Given the description of an element on the screen output the (x, y) to click on. 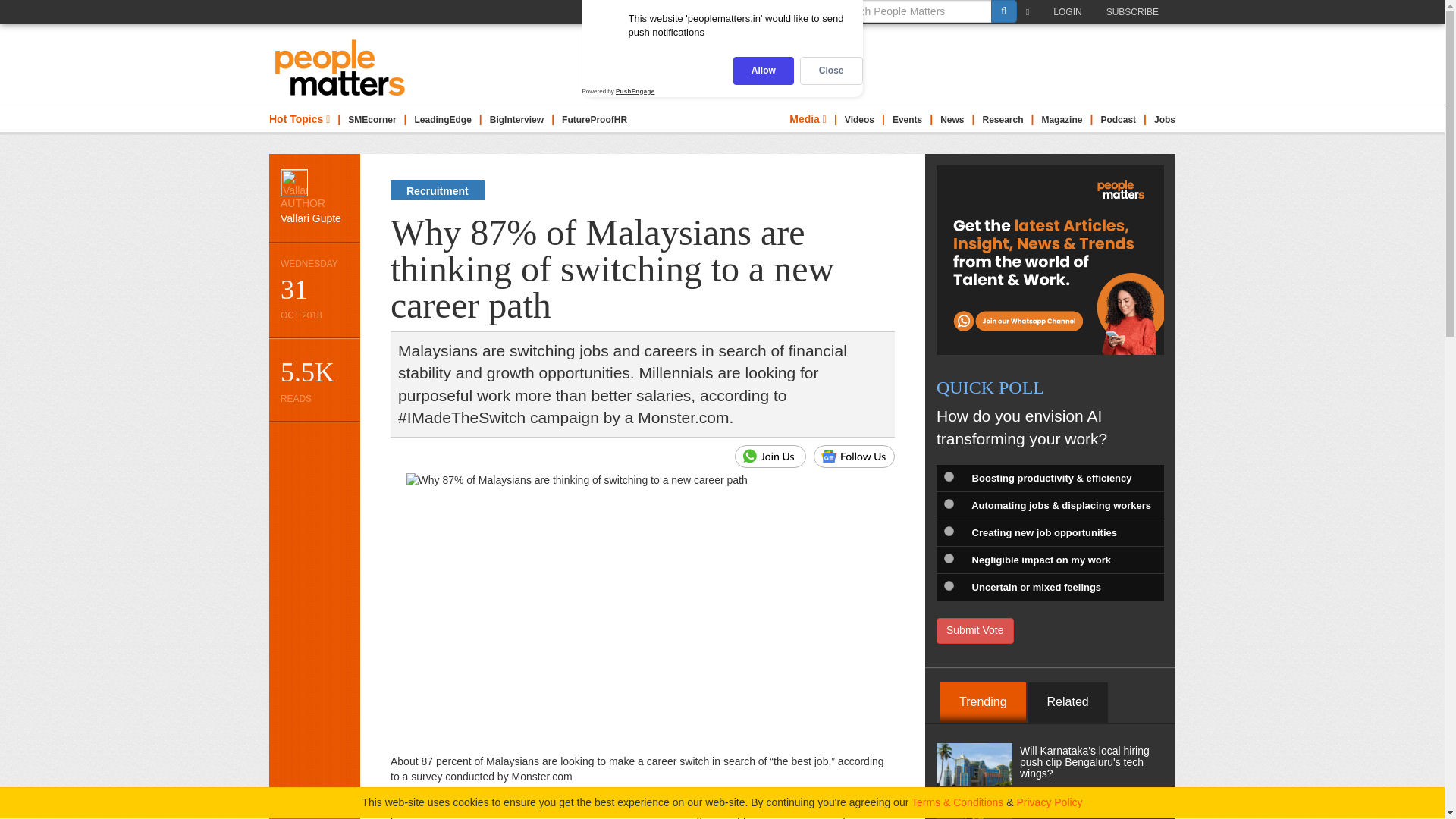
Podcast (1117, 119)
LeadingEdge (442, 119)
BigInterview (516, 119)
Follow Us (854, 456)
323 (948, 558)
Join Us (770, 456)
News (951, 119)
Posted on: Wednesday 31st, October 2018 12:41pm IST (314, 289)
320 (948, 476)
324 (948, 585)
People Matters (340, 67)
Posted by: Vallari Gupte (314, 197)
SMEcorner (371, 119)
Jobs (1164, 119)
321 (948, 503)
